Given the description of an element on the screen output the (x, y) to click on. 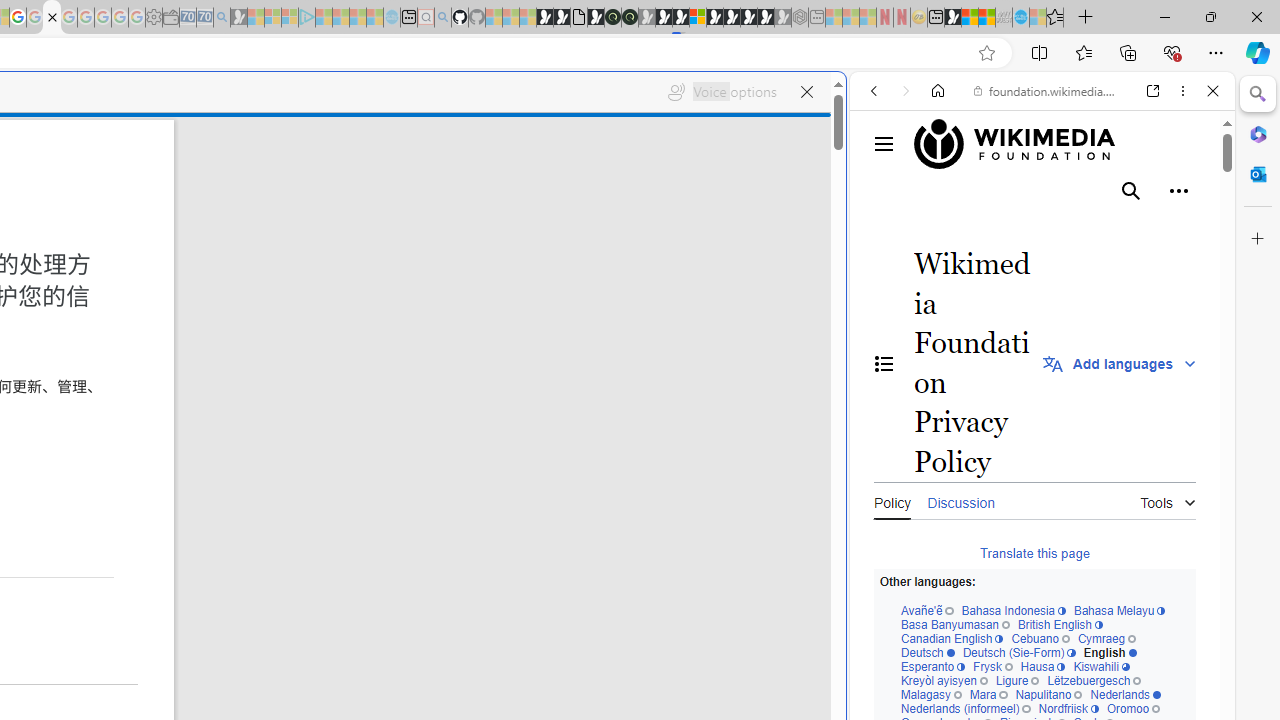
Napulitano (1048, 695)
Nordfriisk (1068, 709)
Cymraeg (1106, 639)
Wiktionary (1034, 669)
Basa Banyumasan (954, 624)
Future Focus Report 2024 (629, 17)
Play Cave FRVR in your browser | Games from Microsoft Start (343, 426)
